Given the description of an element on the screen output the (x, y) to click on. 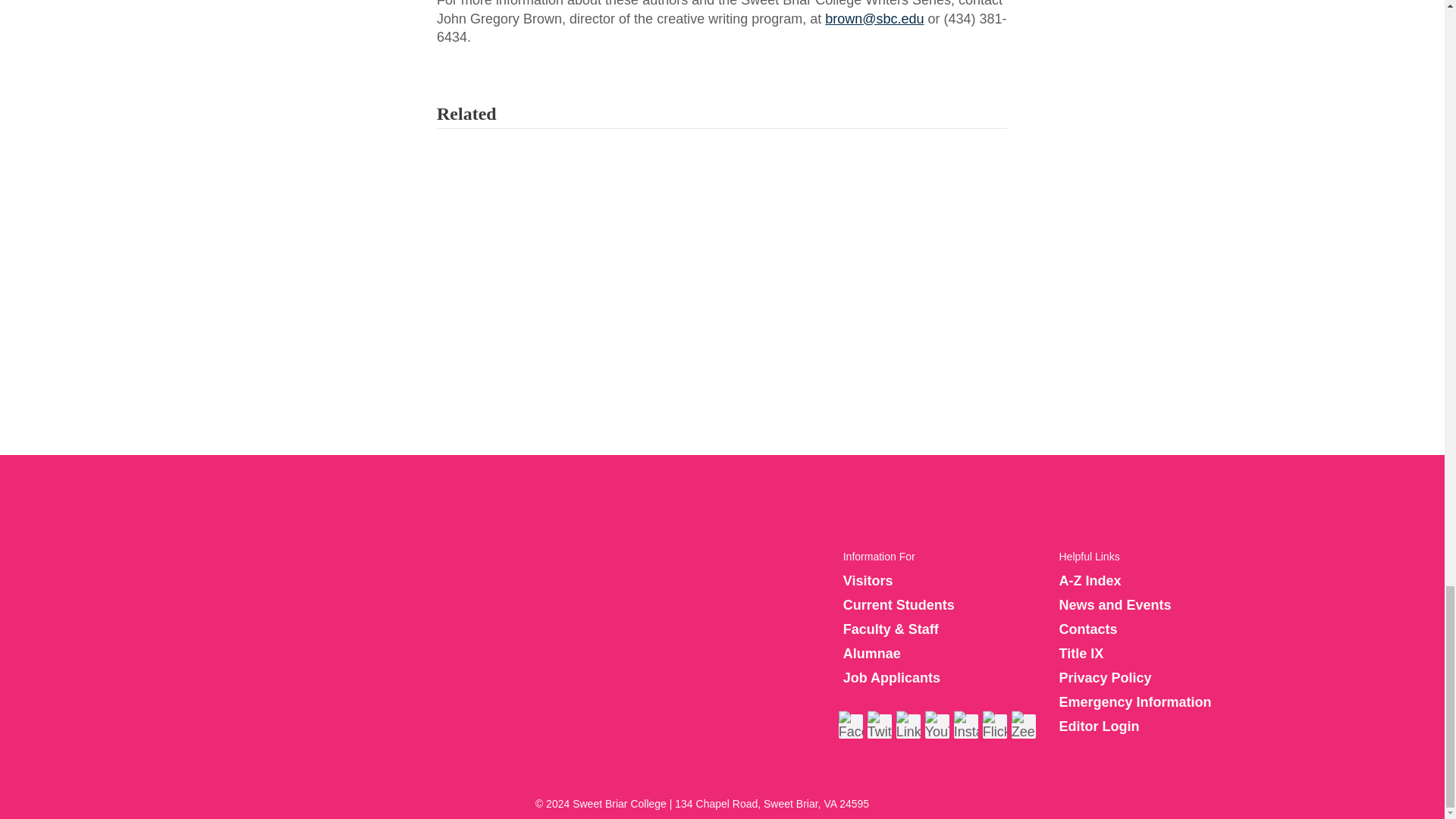
Current Students (899, 604)
Job Applicants (891, 677)
Alumnae (872, 653)
Visitors (868, 580)
